Given the description of an element on the screen output the (x, y) to click on. 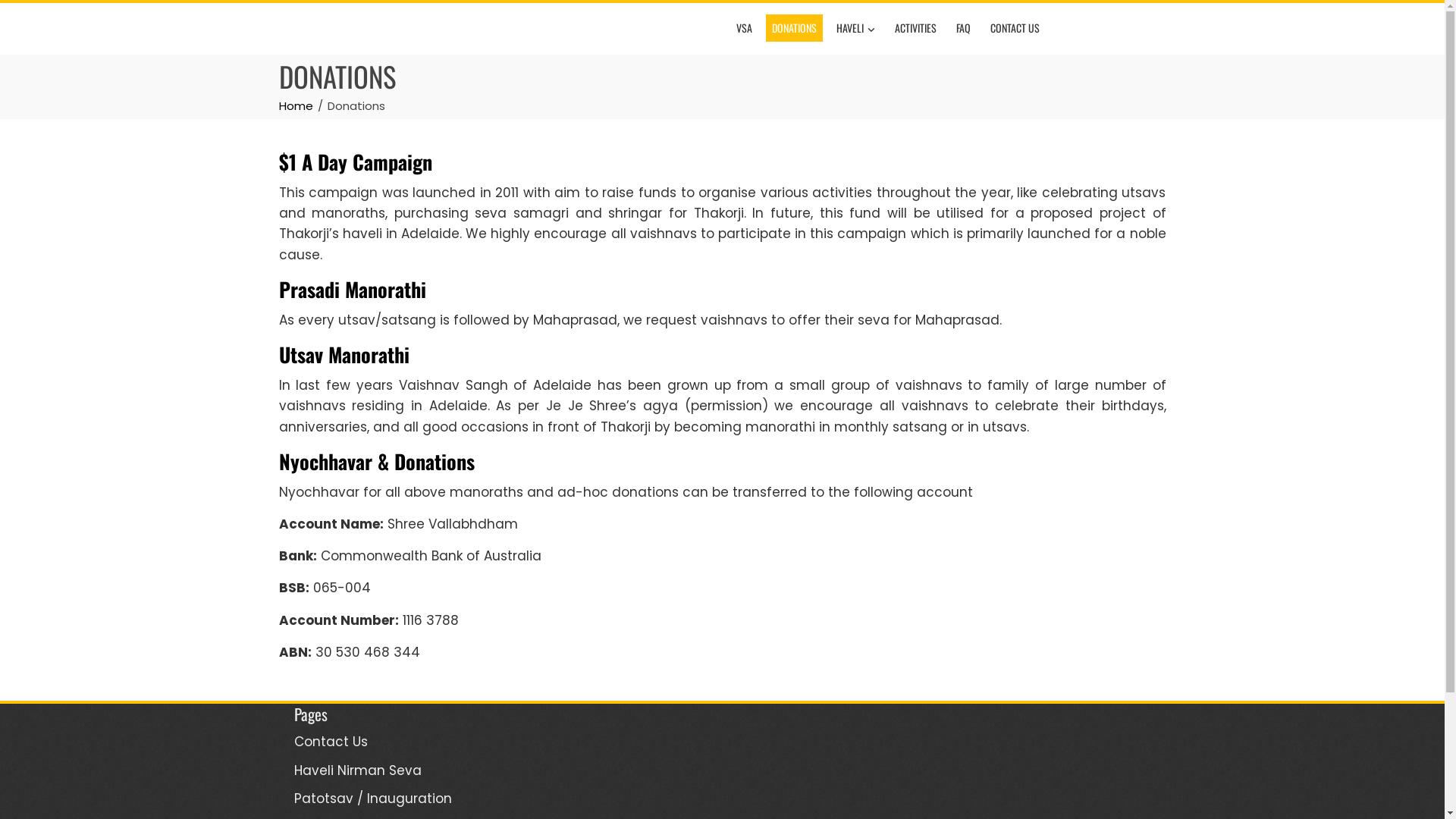
ACTIVITIES Element type: text (915, 27)
Contact Us Element type: text (330, 741)
Home Element type: text (296, 105)
Haveli Nirman Seva Element type: text (357, 770)
VSA Element type: text (743, 27)
Patotsav / Inauguration Element type: text (372, 798)
FAQ Element type: text (962, 27)
HAVELI Element type: text (854, 28)
DONATIONS Element type: text (793, 27)
CONTACT US Element type: text (1014, 27)
